Given the description of an element on the screen output the (x, y) to click on. 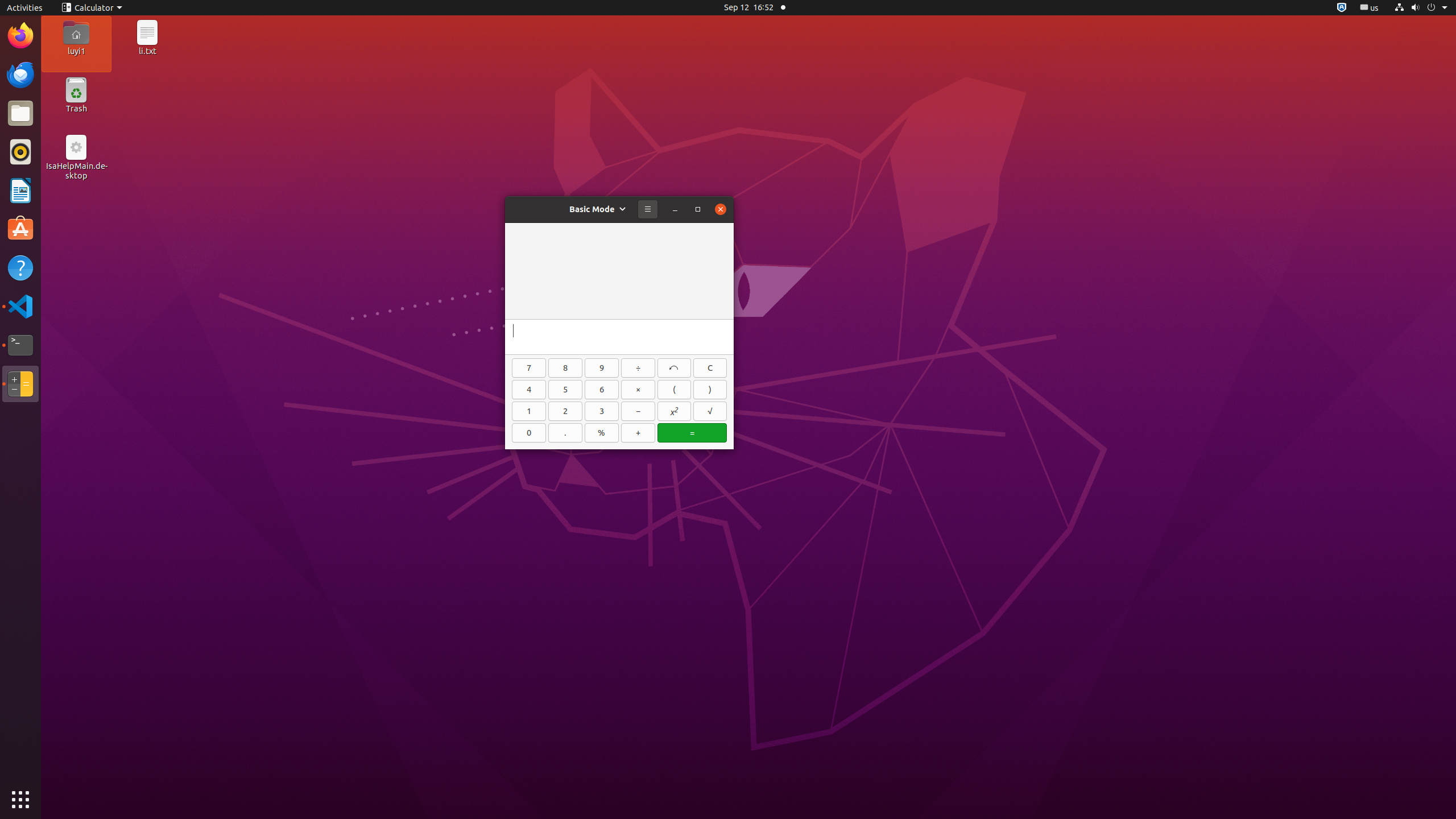
Maximize Element type: push-button (697, 208)
+ Element type: push-button (638, 432)
3 Element type: push-button (601, 410)
× Element type: push-button (638, 389)
Calculator Element type: menu (91, 7)
